Given the description of an element on the screen output the (x, y) to click on. 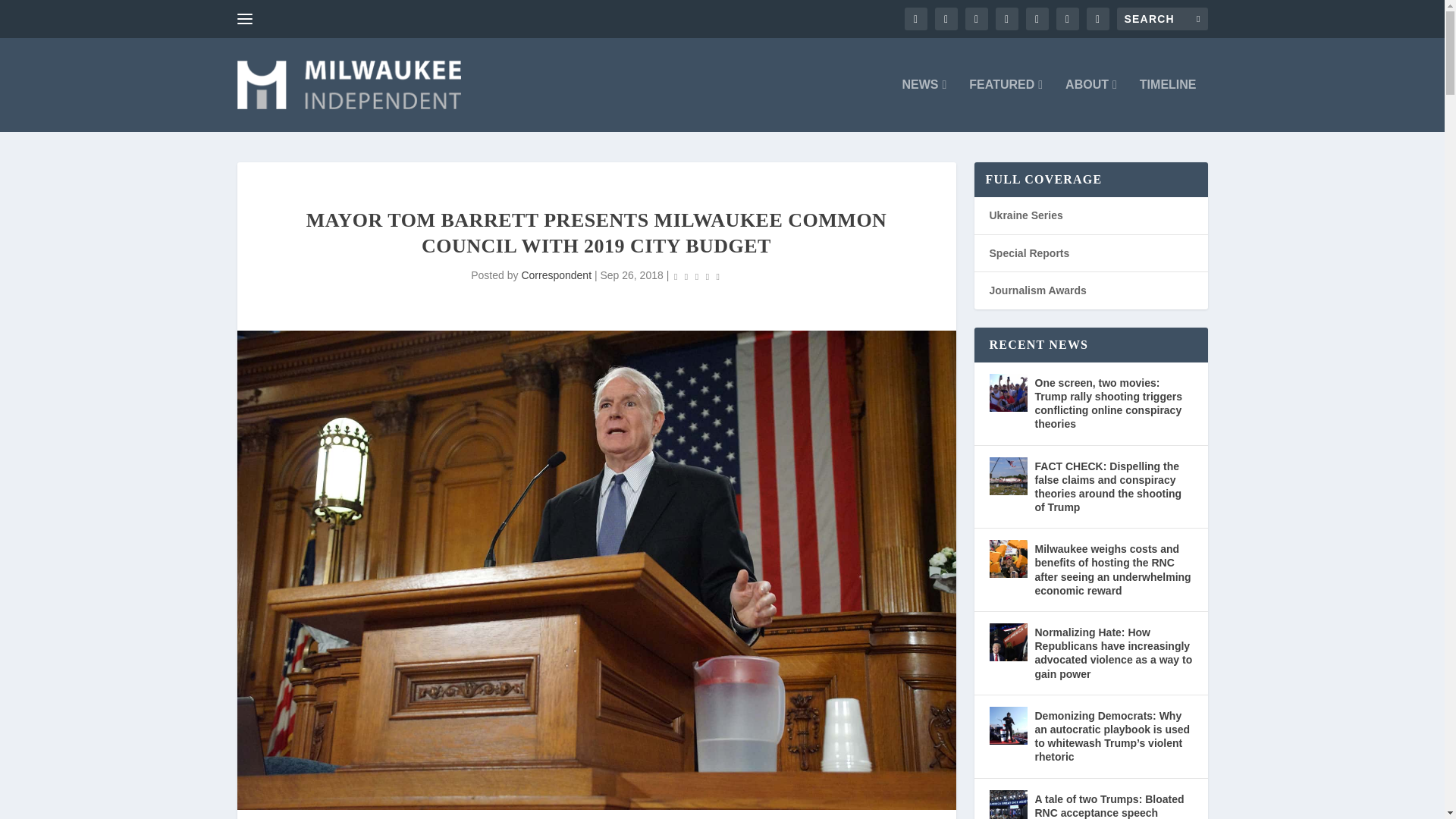
NEWS (923, 104)
Posts by Correspondent (556, 275)
Rating: 0.00 (696, 275)
Search for: (1161, 18)
FEATURED (1005, 104)
ABOUT (1090, 104)
TIMELINE (1168, 104)
